Given the description of an element on the screen output the (x, y) to click on. 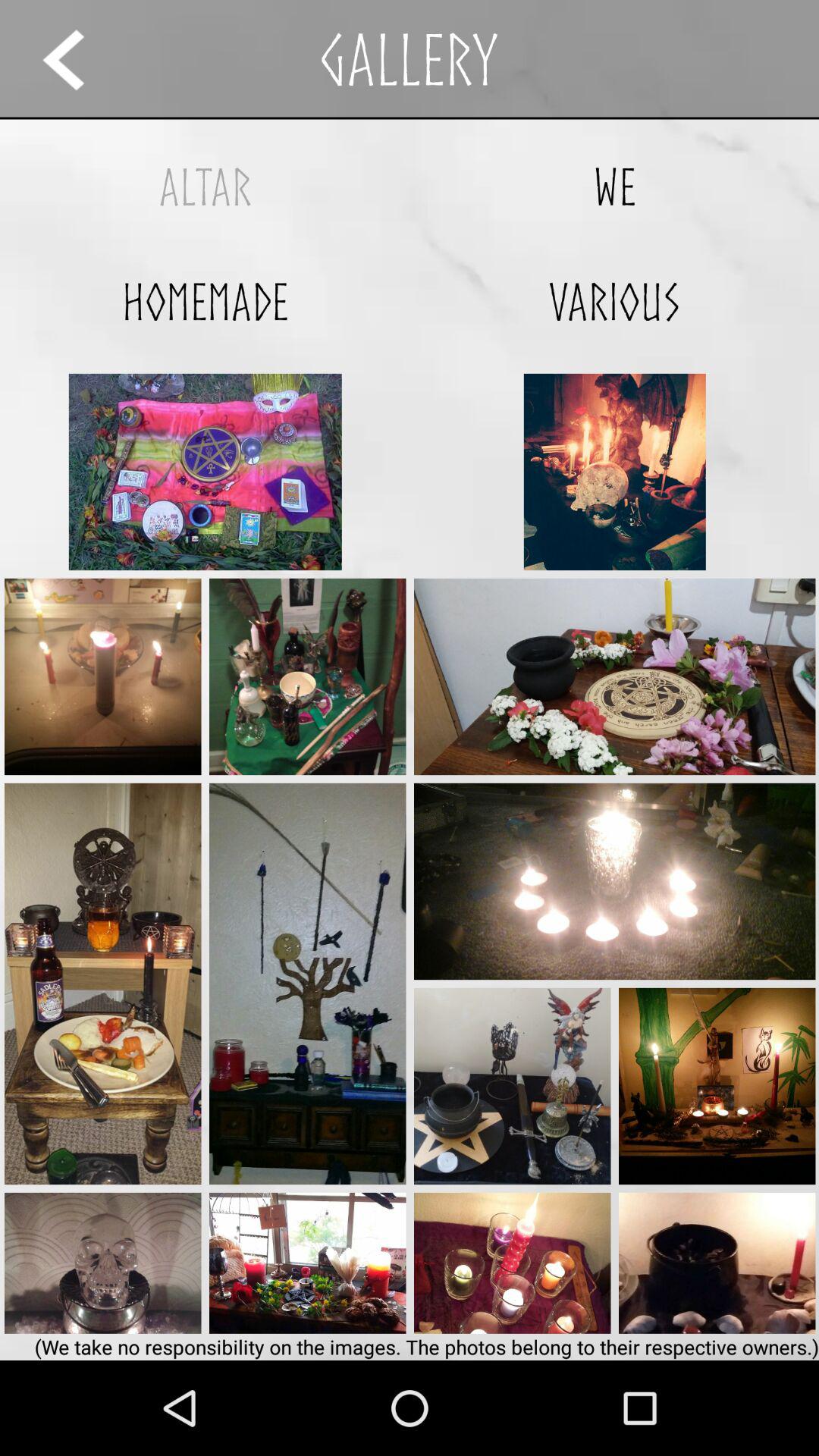
go back (77, 59)
